Given the description of an element on the screen output the (x, y) to click on. 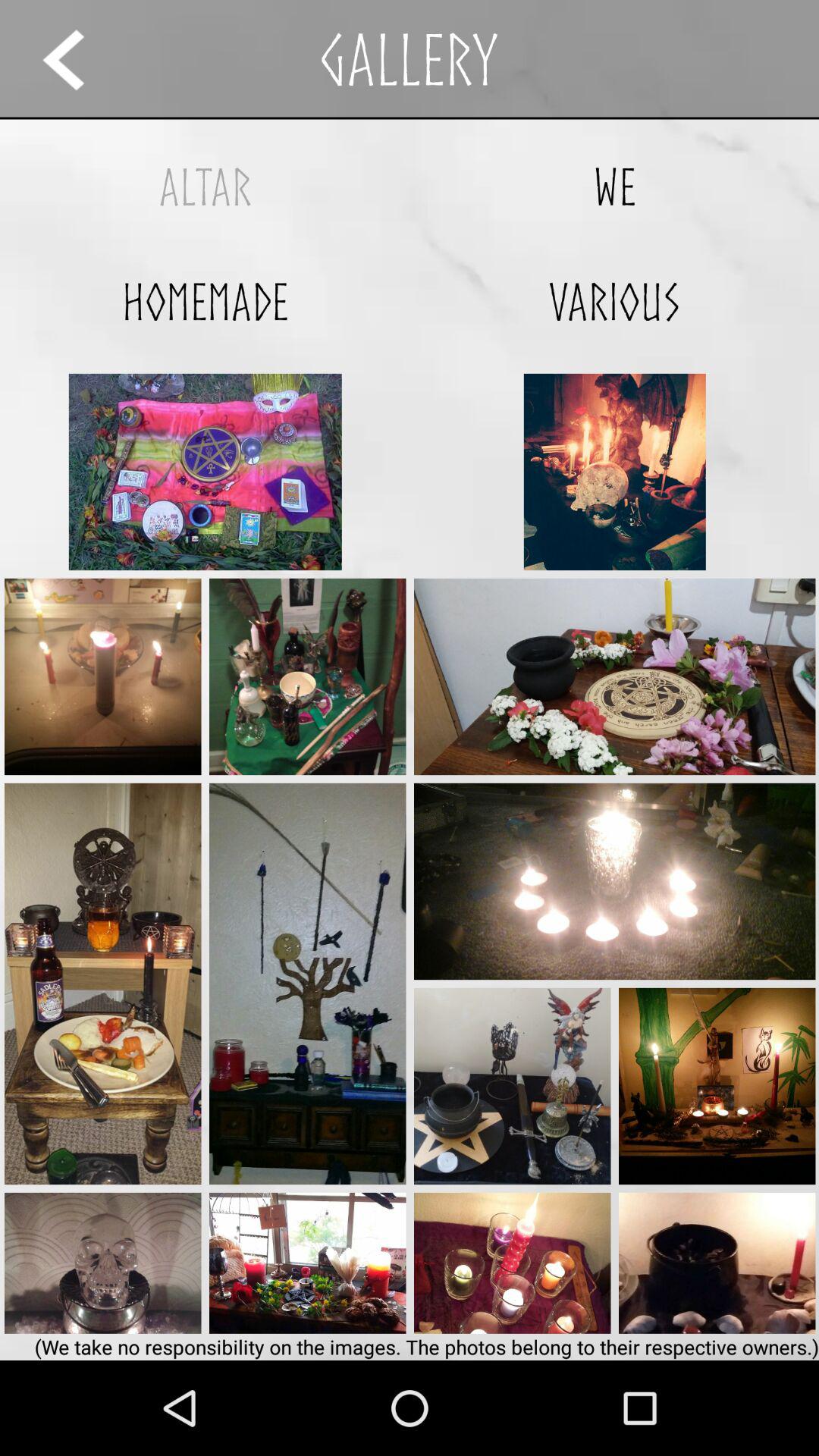
go back (77, 59)
